Given the description of an element on the screen output the (x, y) to click on. 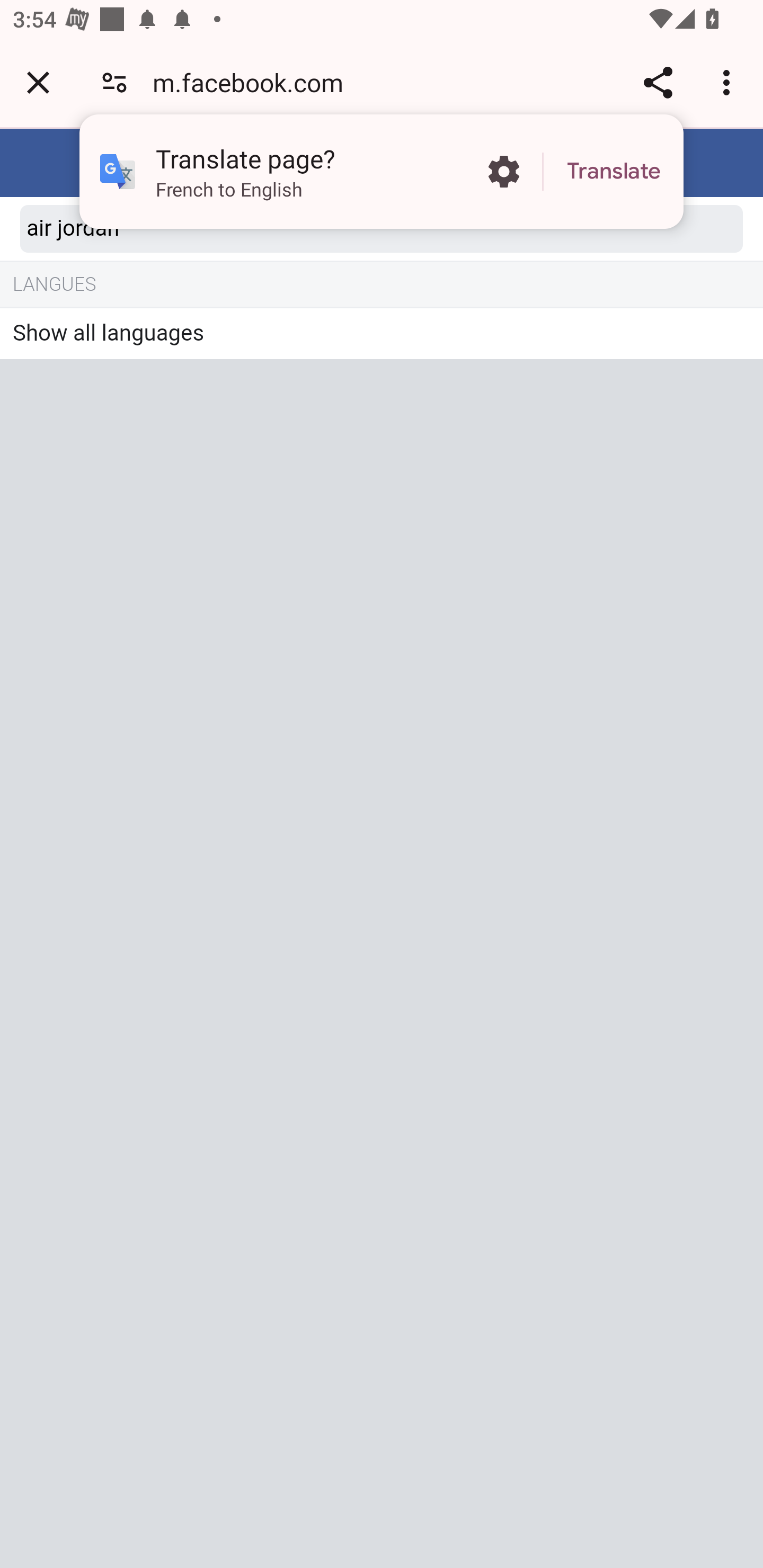
Close tab (38, 82)
Share (657, 82)
Customize and control Google Chrome (729, 82)
Connection is secure (114, 81)
m.facebook.com (254, 81)
Translate (613, 171)
More options in the Translate page? (503, 171)
